Given the description of an element on the screen output the (x, y) to click on. 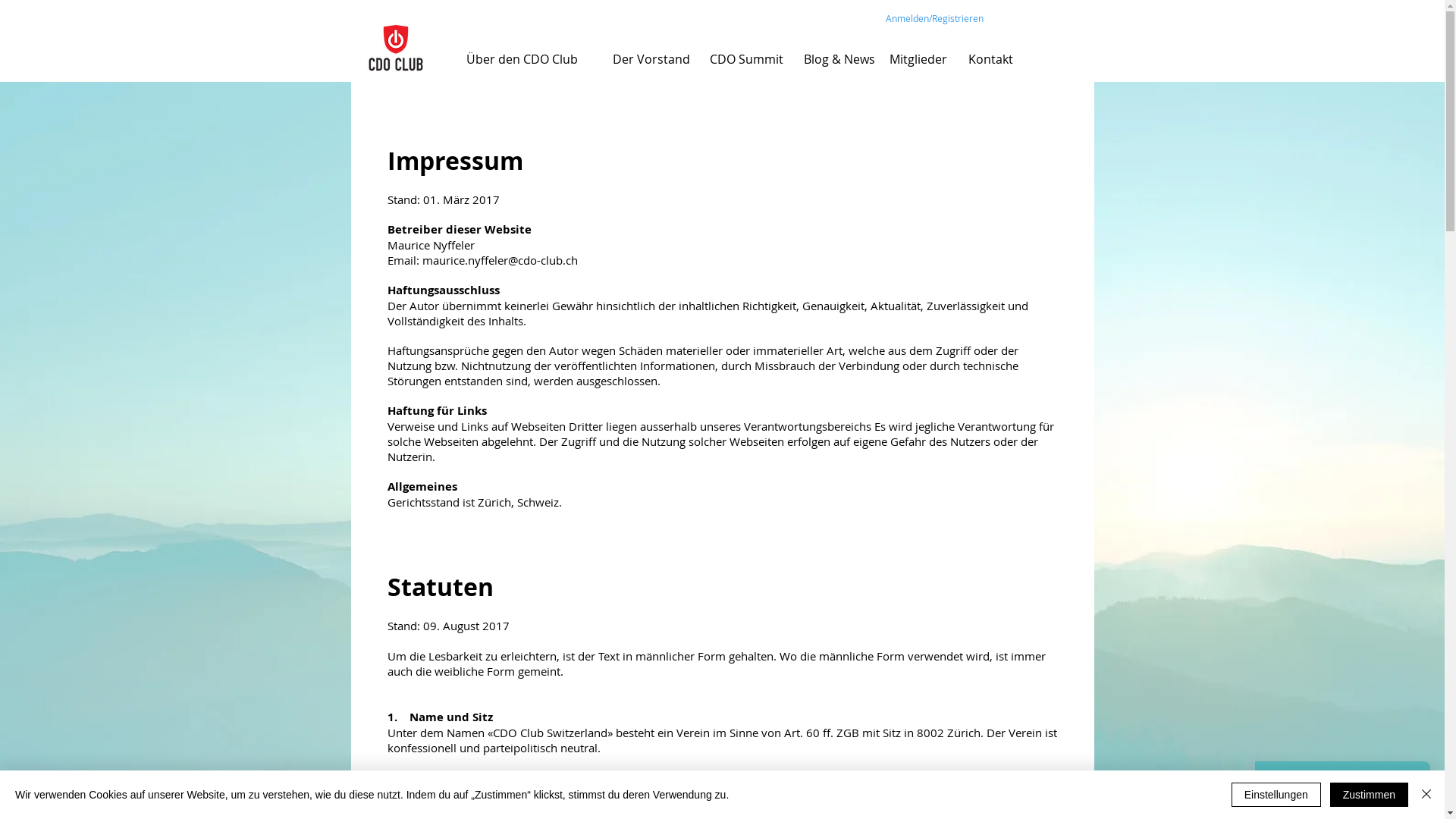
maurice.nyffeler@cdo-club.ch Element type: text (499, 259)
Mitglieder Element type: text (917, 58)
Blog & News Element type: text (838, 58)
Der Vorstand Element type: text (651, 58)
CDO Summit Element type: text (746, 58)
Zustimmen Element type: text (1369, 794)
Einstellungen Element type: text (1276, 794)
Anmelden/Registrieren Element type: text (934, 18)
Kontakt Element type: text (990, 58)
